Given the description of an element on the screen output the (x, y) to click on. 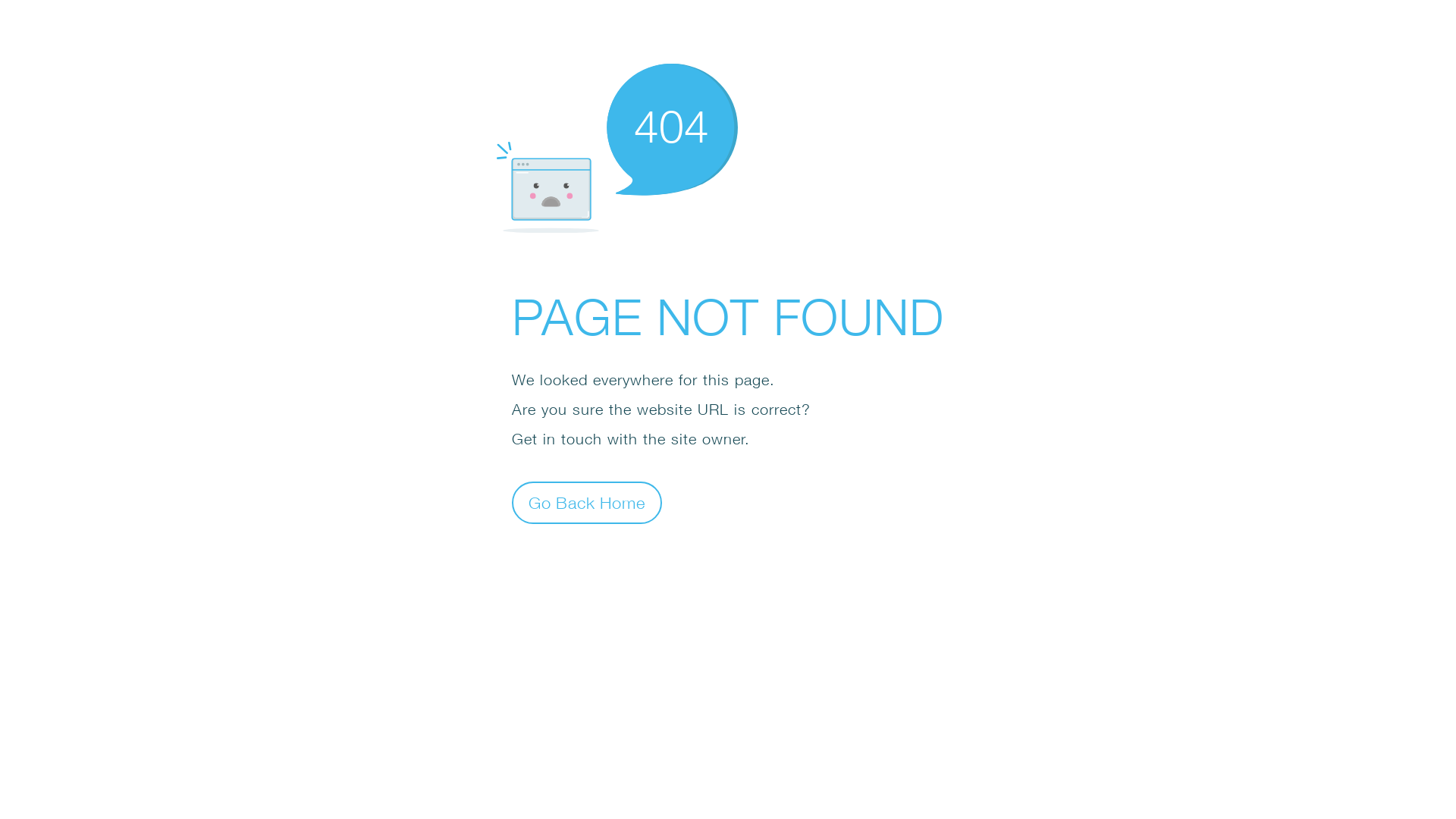
Go Back Home Element type: text (586, 502)
